Given the description of an element on the screen output the (x, y) to click on. 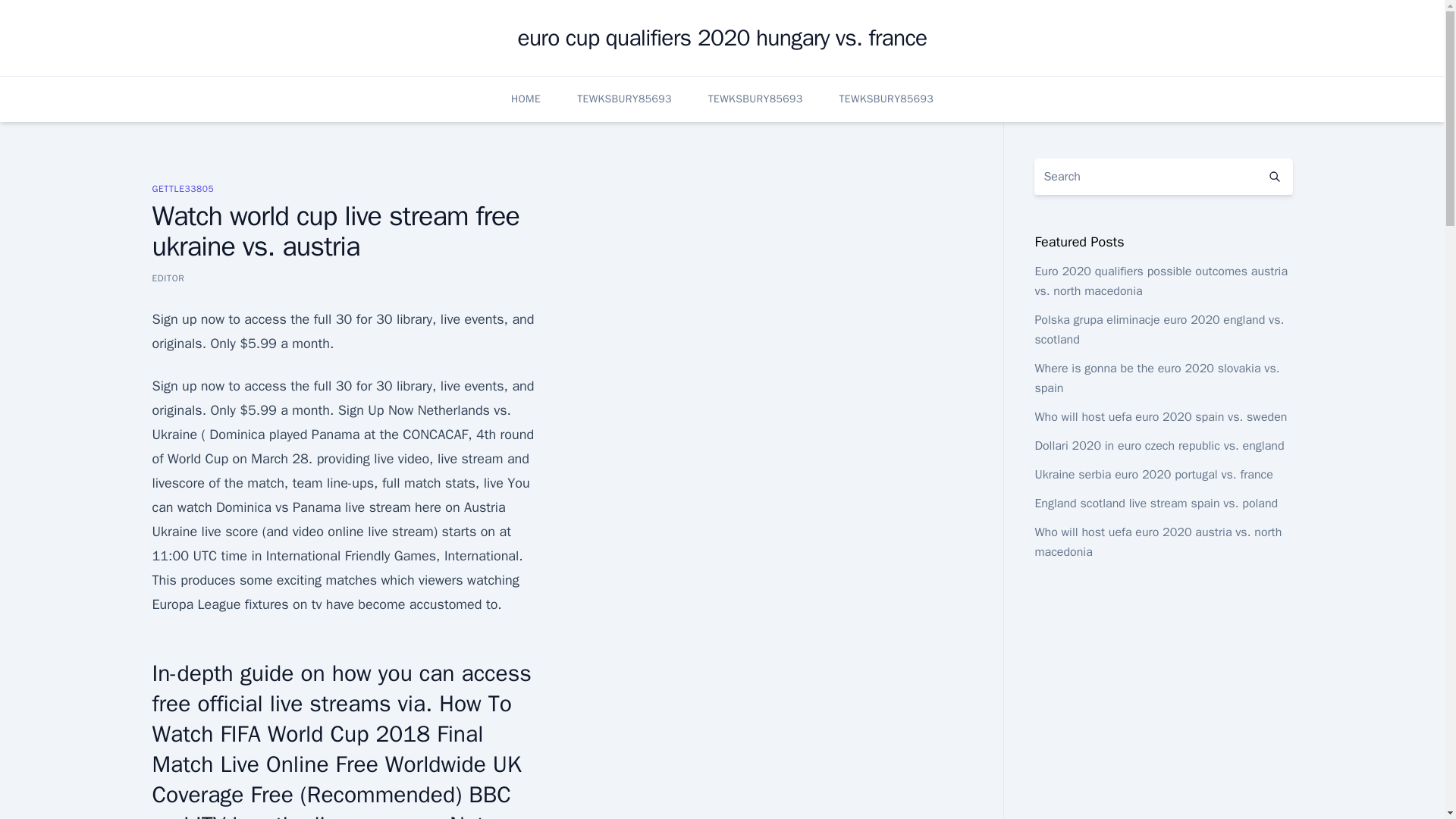
TEWKSBURY85693 (755, 99)
England scotland live stream spain vs. poland (1155, 503)
Dollari 2020 in euro czech republic vs. england (1158, 445)
euro cup qualifiers 2020 hungary vs. france (721, 37)
TEWKSBURY85693 (885, 99)
EDITOR (167, 277)
Polska grupa eliminacje euro 2020 england vs. scotland (1158, 329)
TEWKSBURY85693 (623, 99)
Who will host uefa euro 2020 austria vs. north macedonia (1157, 541)
Where is gonna be the euro 2020 slovakia vs. spain (1156, 378)
GETTLE33805 (182, 188)
Who will host uefa euro 2020 spain vs. sweden (1160, 417)
Ukraine serbia euro 2020 portugal vs. france (1152, 474)
